Given the description of an element on the screen output the (x, y) to click on. 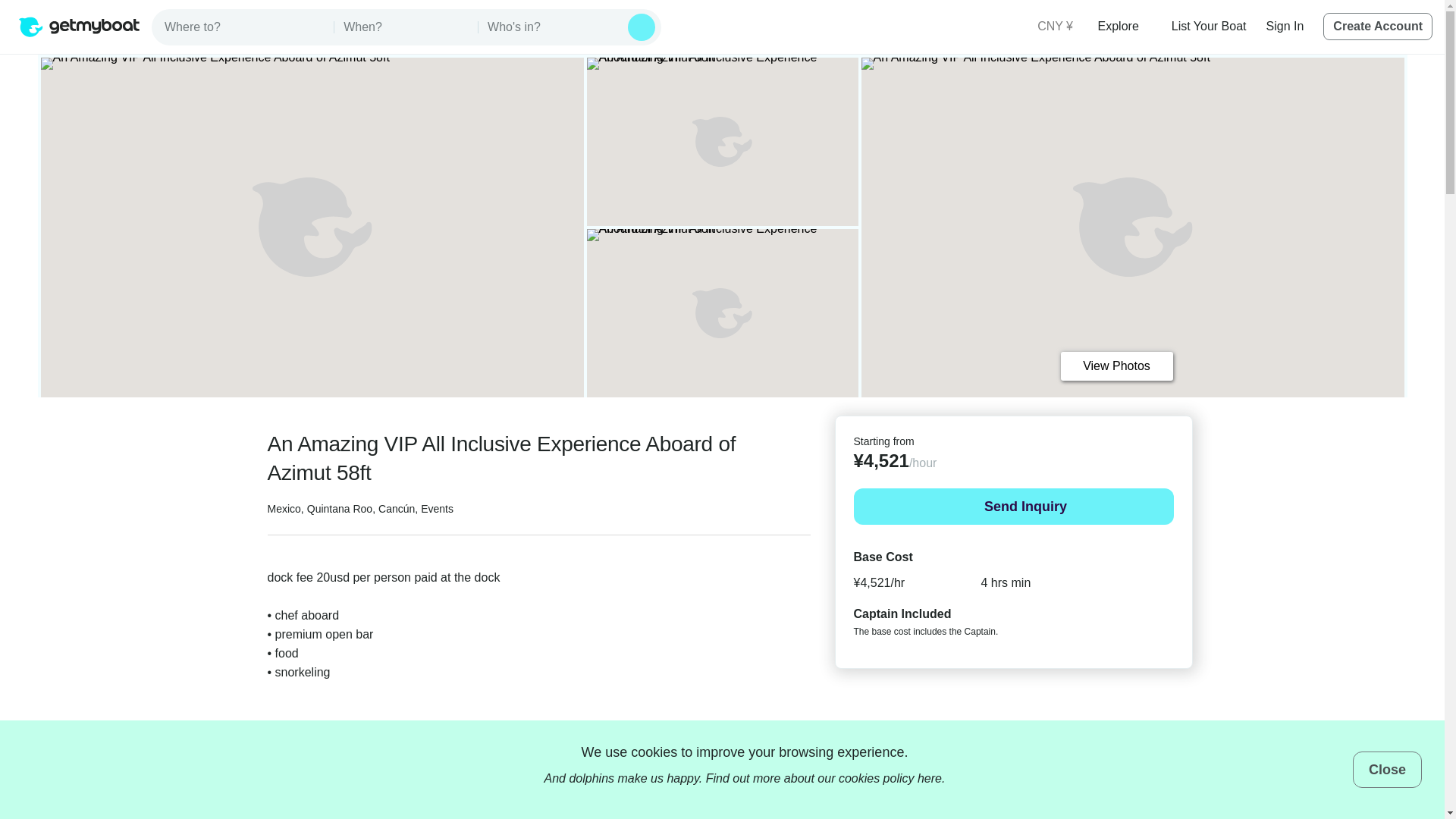
Quintana Roo (339, 508)
cookies policy here (890, 778)
Sign In (1285, 26)
Send Inquiry (1013, 506)
Create Account (1377, 26)
Mexico (282, 508)
List Your Boat (1209, 26)
View Photos (1115, 366)
Search (641, 26)
Explore (1123, 25)
Close (1387, 769)
